Given the description of an element on the screen output the (x, y) to click on. 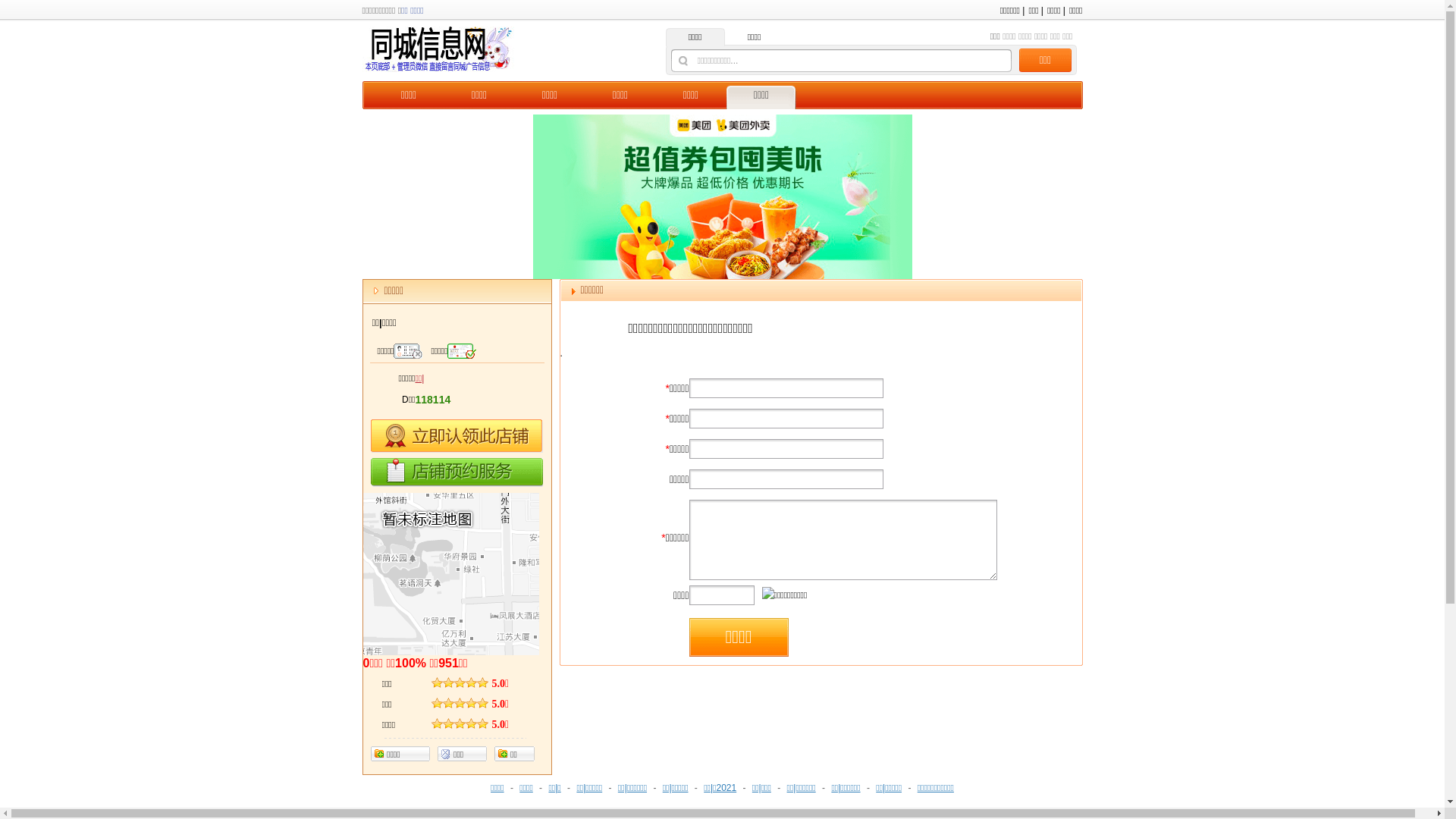
118114 Element type: text (433, 400)
